Given the description of an element on the screen output the (x, y) to click on. 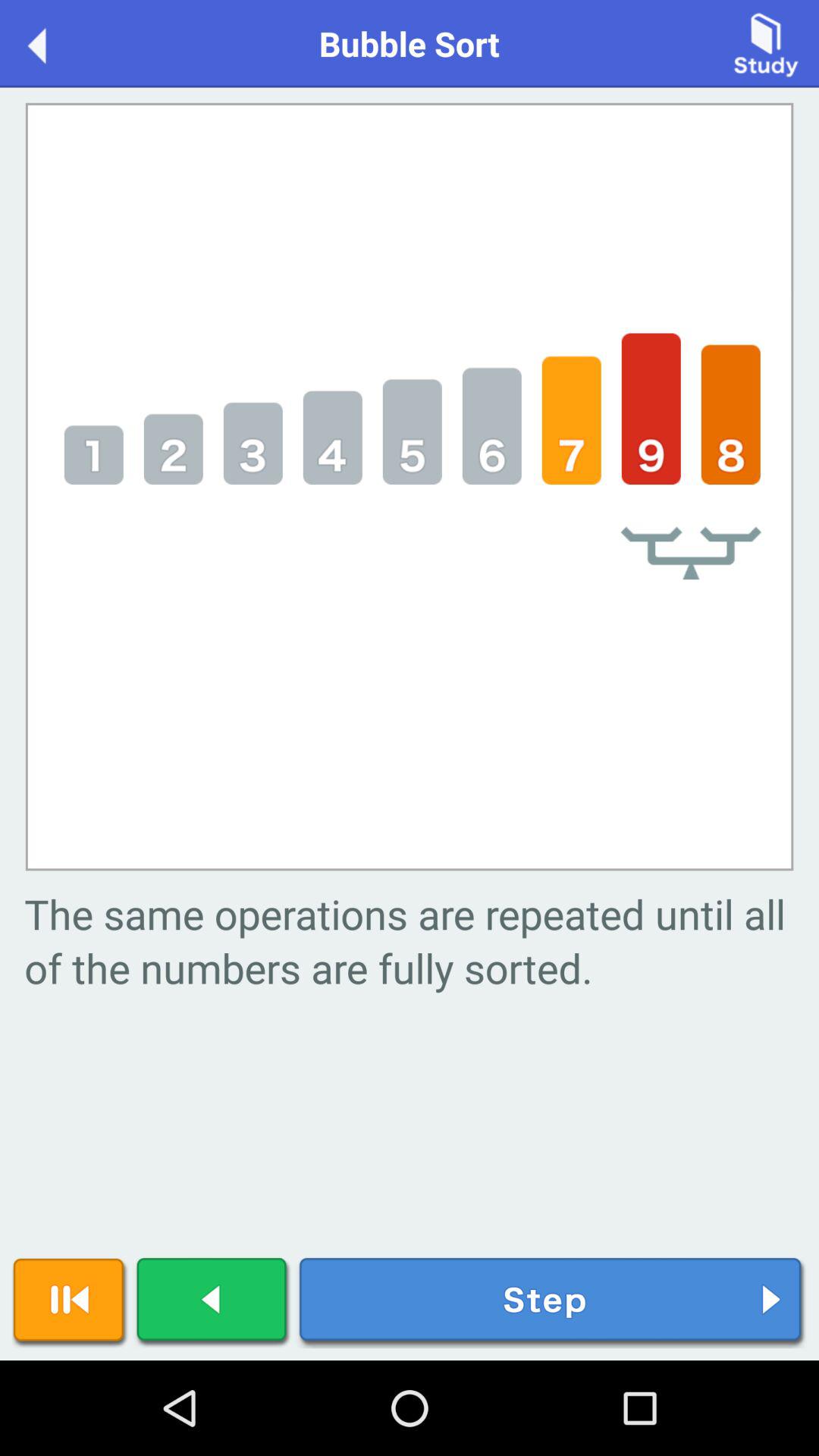
next step (552, 1302)
